Given the description of an element on the screen output the (x, y) to click on. 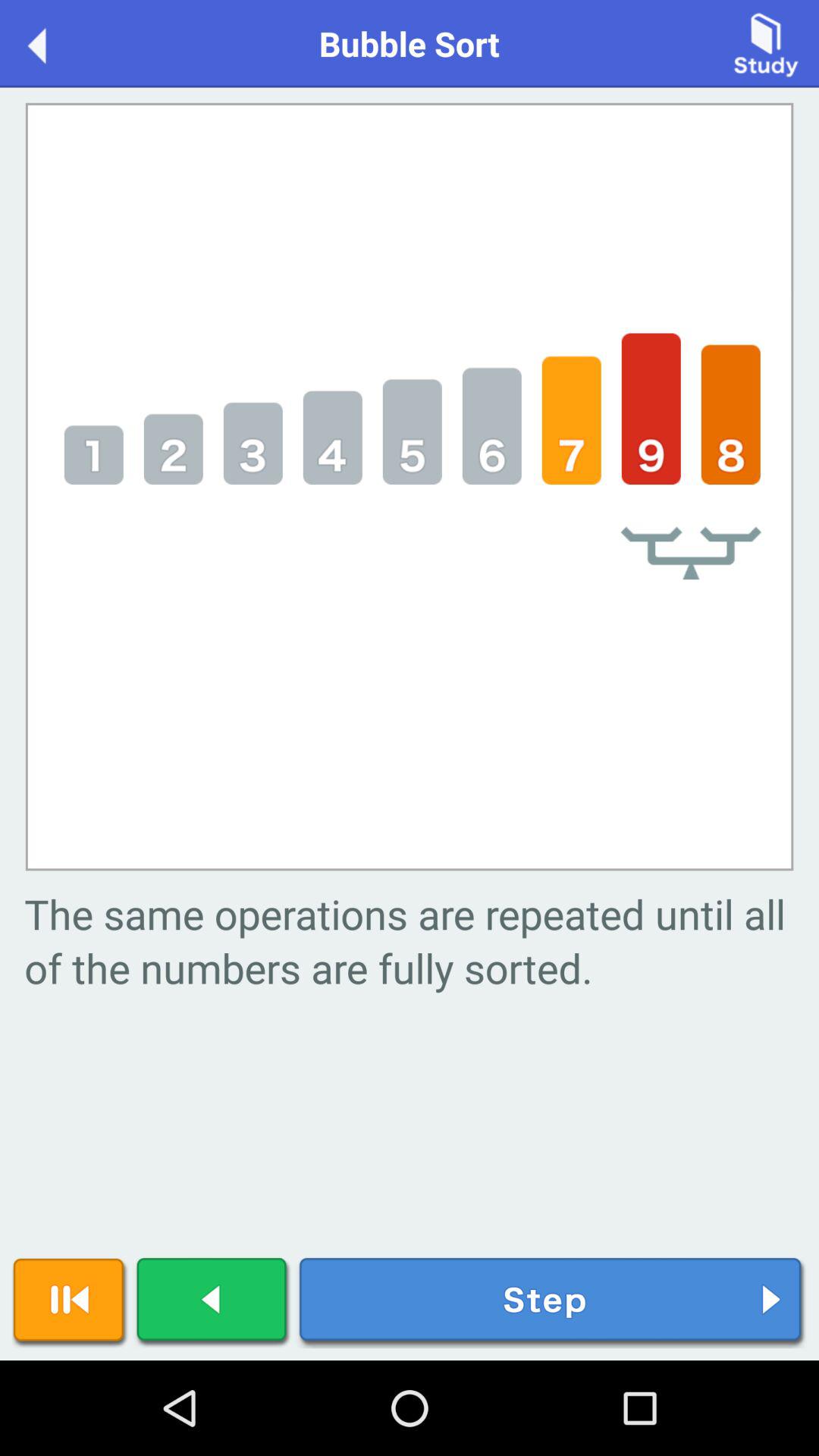
next step (552, 1302)
